Given the description of an element on the screen output the (x, y) to click on. 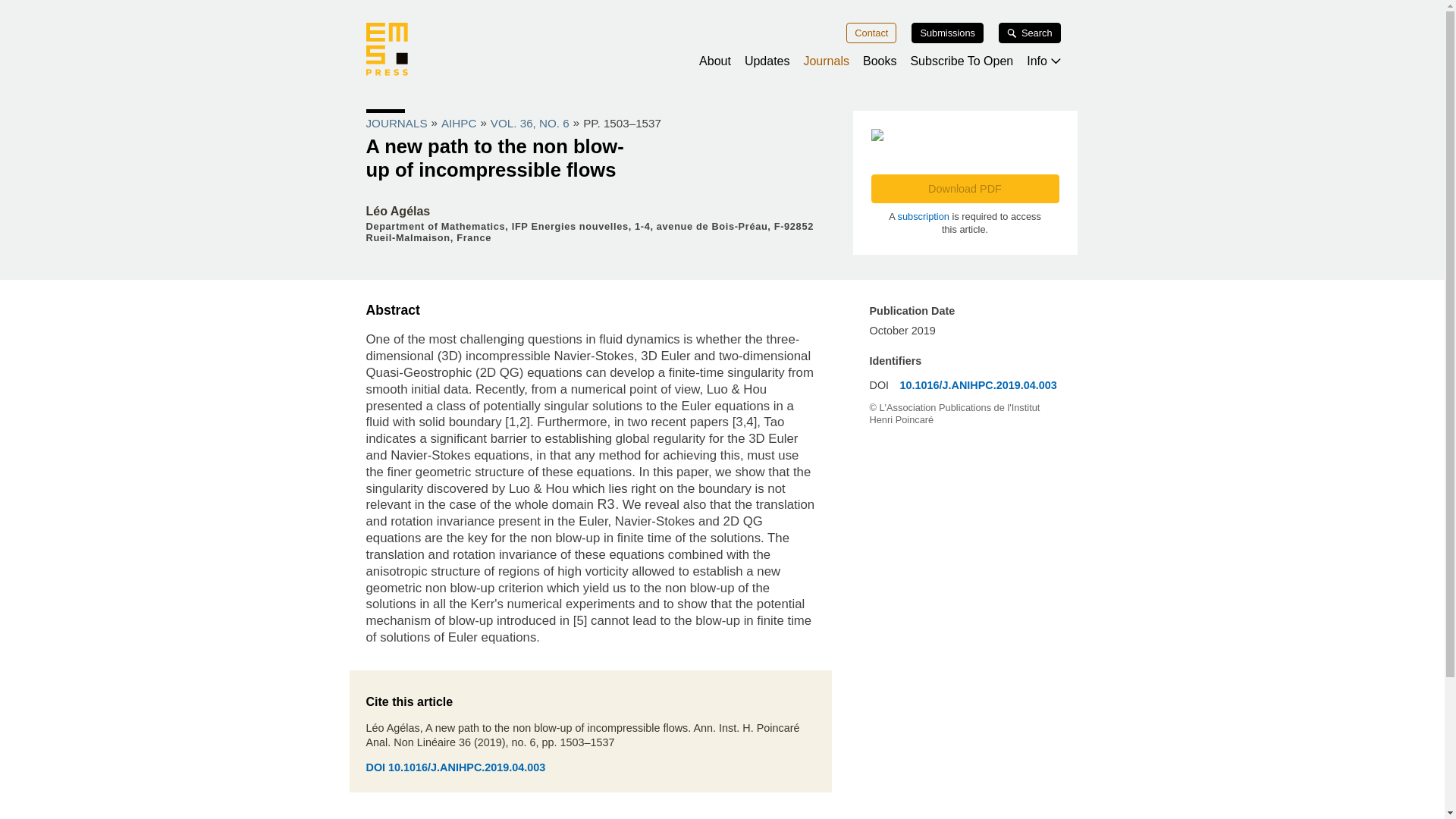
Download PDF (964, 188)
Journals (825, 60)
subscription (923, 215)
VOL. 36, NO. 6 (529, 123)
Updates (767, 60)
Books (879, 60)
Info (1042, 60)
Search (1029, 32)
Main Navigation (721, 47)
Subscribe To Open (961, 60)
